Given the description of an element on the screen output the (x, y) to click on. 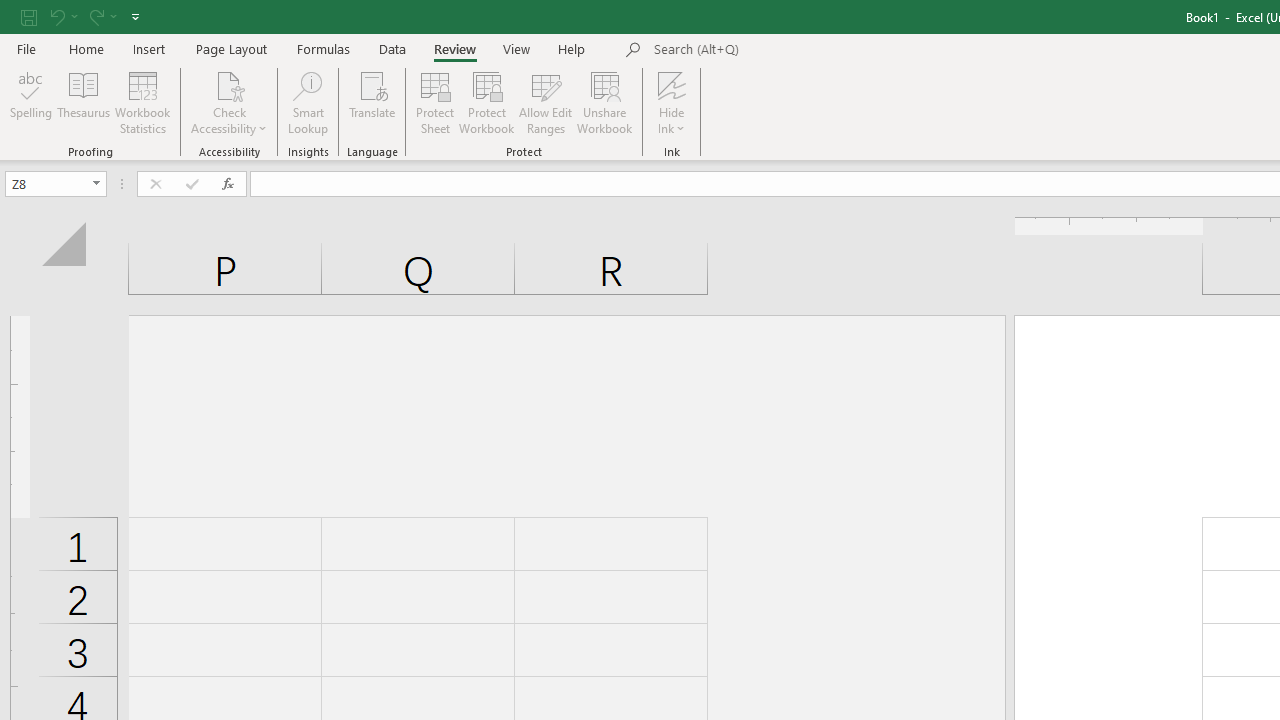
Workbook Statistics (142, 102)
Protect Sheet... (434, 102)
View (517, 48)
Customize Quick Access Toolbar (135, 15)
Insert (149, 48)
Thesaurus... (83, 102)
